Given the description of an element on the screen output the (x, y) to click on. 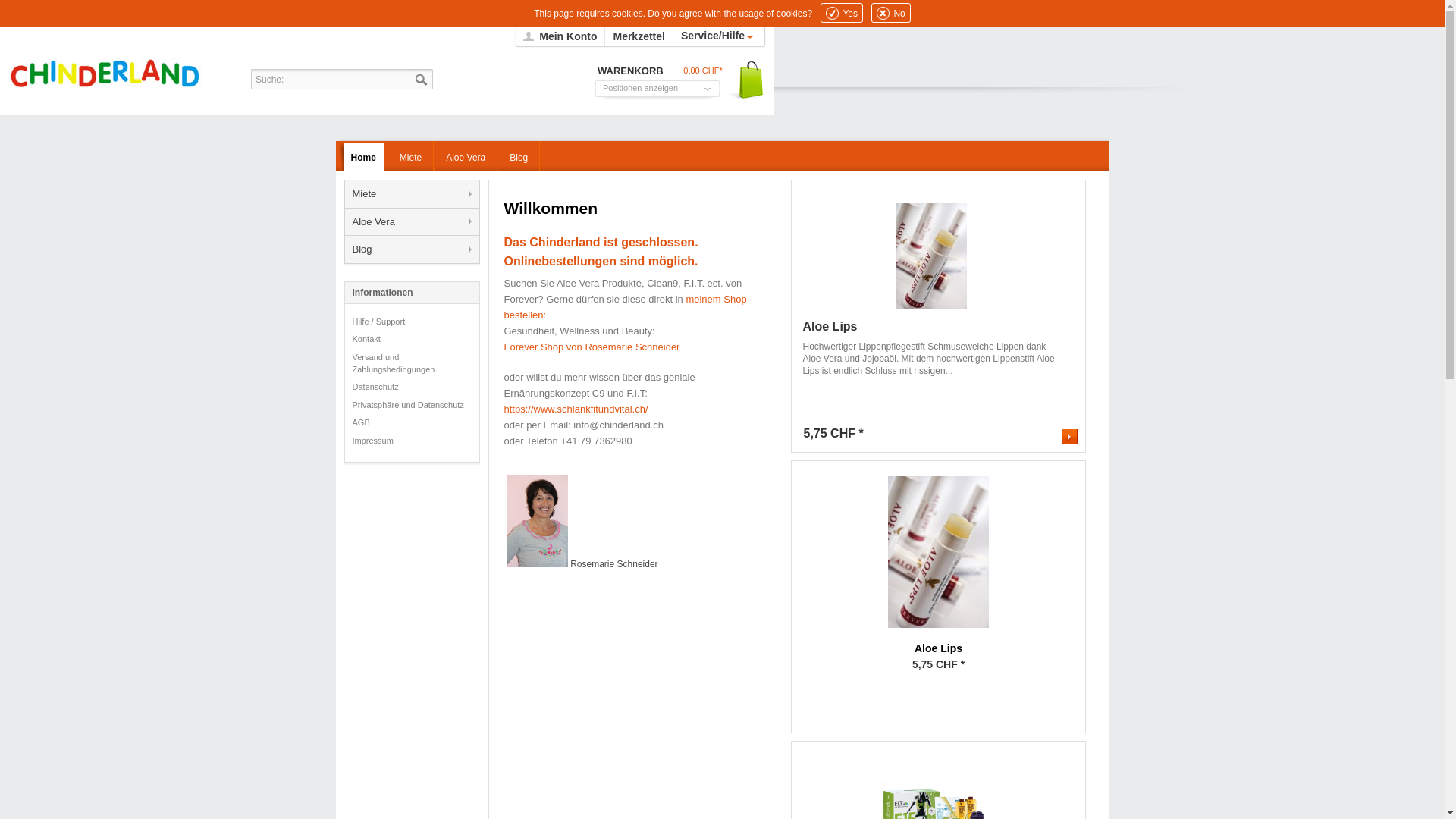
Forever Shop von Rosemarie Schneider Element type: text (591, 346)
Suchen Element type: text (420, 79)
https://www.schlankfitundvital.ch/ Element type: text (575, 408)
Aloe Lips Element type: hover (931, 256)
Miete Element type: text (410, 155)
Aloe Lips Element type: hover (938, 551)
Aloe Vera Element type: text (465, 155)
Blog Element type: text (518, 155)
Hilfe / Support Element type: text (411, 322)
Datenschutz Element type: text (411, 387)
Warenkorb Element type: text (745, 80)
Versand und Zahlungsbedingungen Element type: text (411, 363)
AGB Element type: text (411, 423)
Aloe Vera Element type: text (411, 221)
Yes Element type: text (841, 12)
Home Element type: text (363, 156)
Aloe Lips Element type: hover (938, 559)
WARENKORB Element type: text (630, 70)
Merkzettel Element type: text (638, 36)
Zum Produkt Element type: text (1068, 436)
Impressum Element type: text (411, 441)
Kontakt Element type: text (411, 339)
Aloe Lips Element type: text (931, 326)
Mein Konto Element type: text (560, 36)
Miete Element type: text (411, 193)
No Element type: text (890, 12)
meinem Shop bestellen: Element type: text (624, 306)
Blog Element type: text (411, 249)
Aloe Lips Element type: text (938, 649)
CHINDERLAND Element type: text (121, 74)
